Given the description of an element on the screen output the (x, y) to click on. 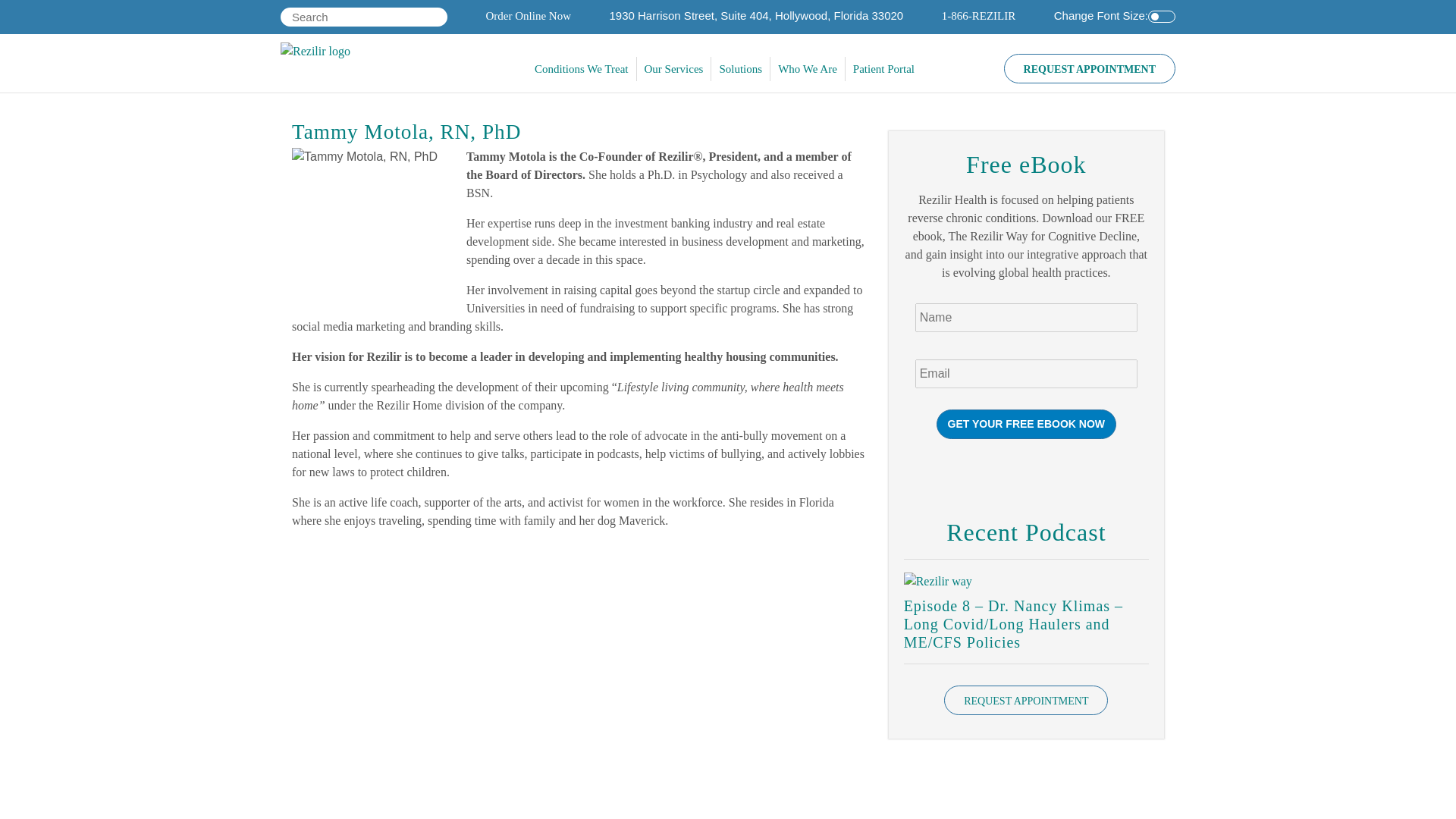
Our Services (674, 68)
Conditions We Treat (582, 68)
1-866-REZILIR (978, 15)
Solutions (740, 68)
Get your FREE ebook now (1026, 423)
Who We Are (807, 68)
Order Online Now (527, 15)
